Given the description of an element on the screen output the (x, y) to click on. 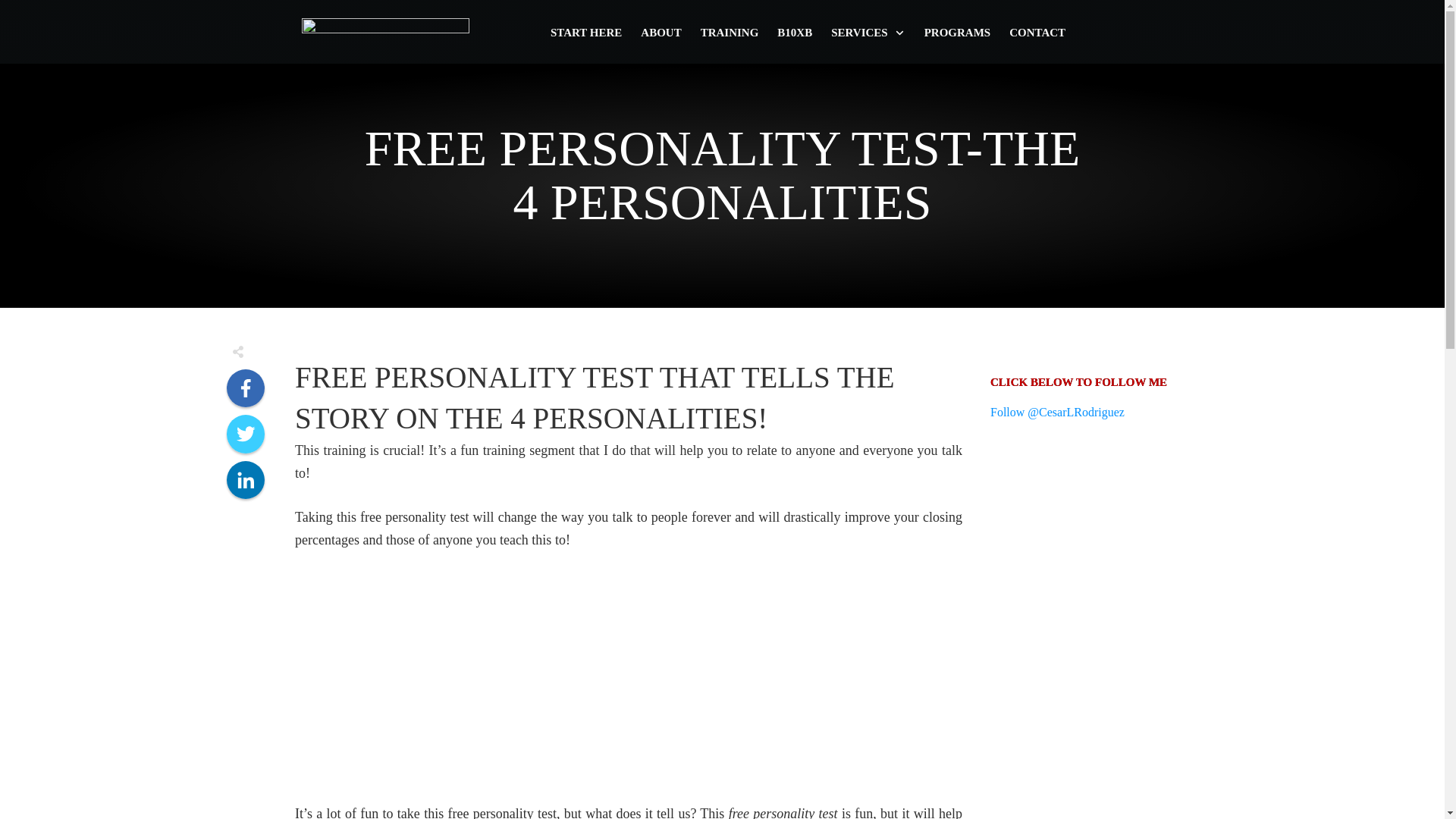
ABOUT (660, 32)
SERVICES (868, 32)
PROGRAMS (957, 32)
Free personality test! The 4 personalities in business! (484, 673)
CONTACT (1037, 32)
START HERE (585, 32)
TRAINING (729, 32)
B10XB (794, 32)
cesarlrodriguezlogo (384, 31)
